Given the description of an element on the screen output the (x, y) to click on. 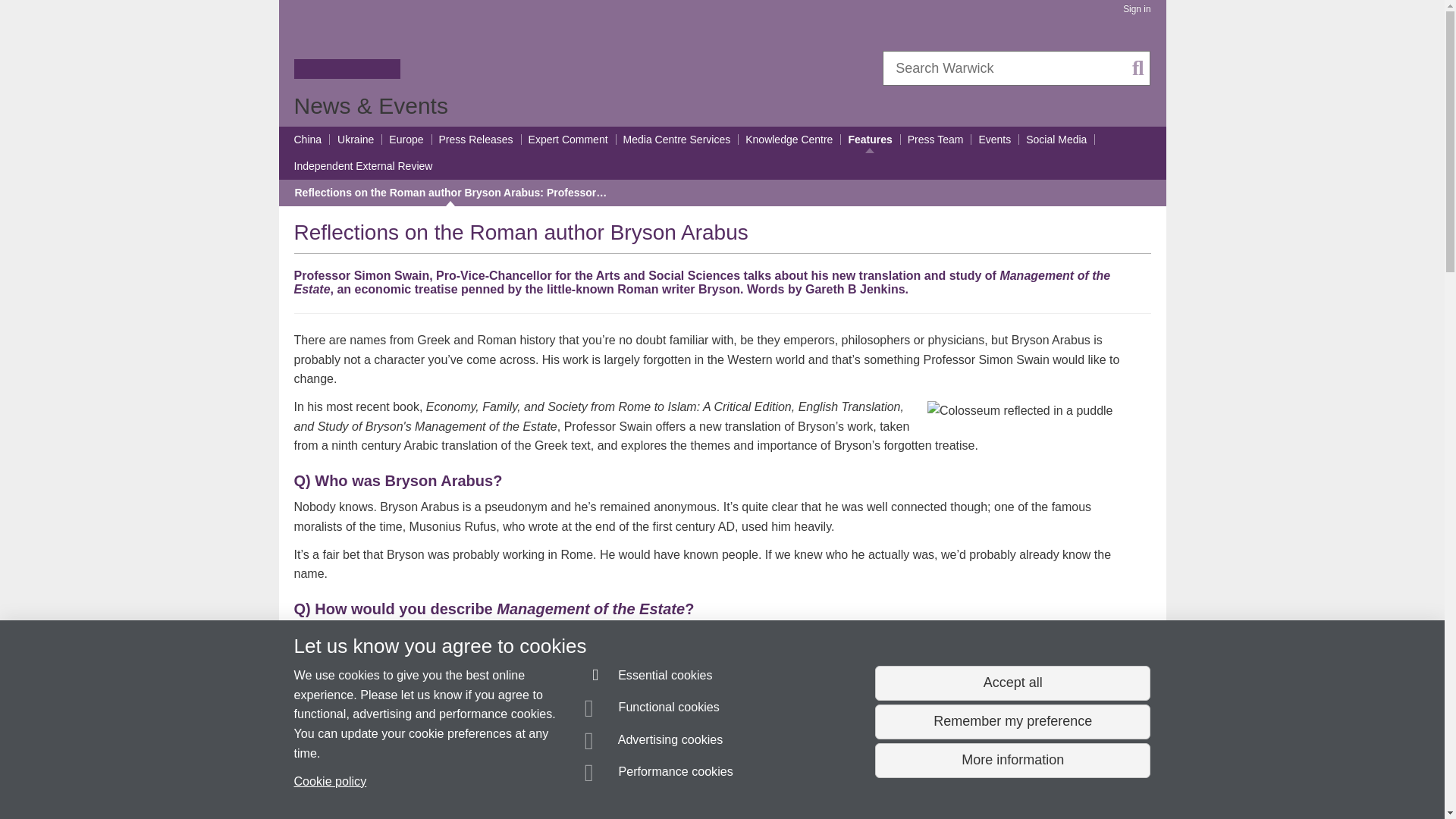
Sign in (1136, 9)
Press Team (935, 139)
Press Releases (475, 139)
Events (994, 139)
Ukraine (355, 139)
Features (869, 139)
Europe (405, 139)
University of Warwick homepage (346, 48)
Expert Comment (568, 139)
Knowledge Centre (788, 139)
Media Centre Services (676, 139)
